Given the description of an element on the screen output the (x, y) to click on. 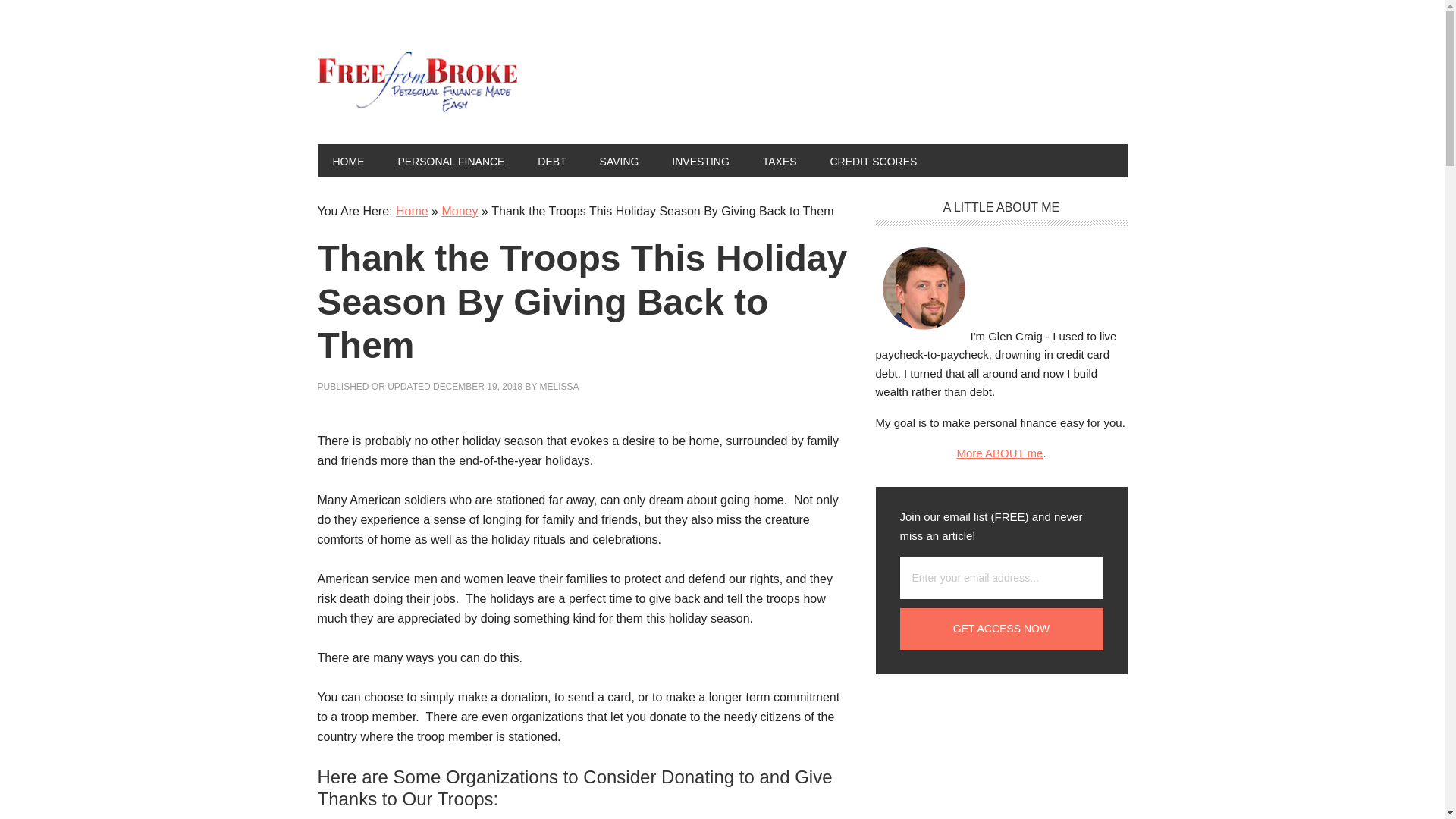
INVESTING (700, 160)
HOME (347, 160)
Credit Scores (872, 160)
Tax Articles (780, 160)
MELISSA (559, 386)
Get Access Now (1000, 629)
CREDIT SCORES (872, 160)
FREE FROM BROKE (419, 81)
DEBT (551, 160)
Get Access Now (1000, 629)
PERSONAL FINANCE (450, 160)
Money (459, 210)
More ABOUT me (999, 452)
SAVING (619, 160)
